Given the description of an element on the screen output the (x, y) to click on. 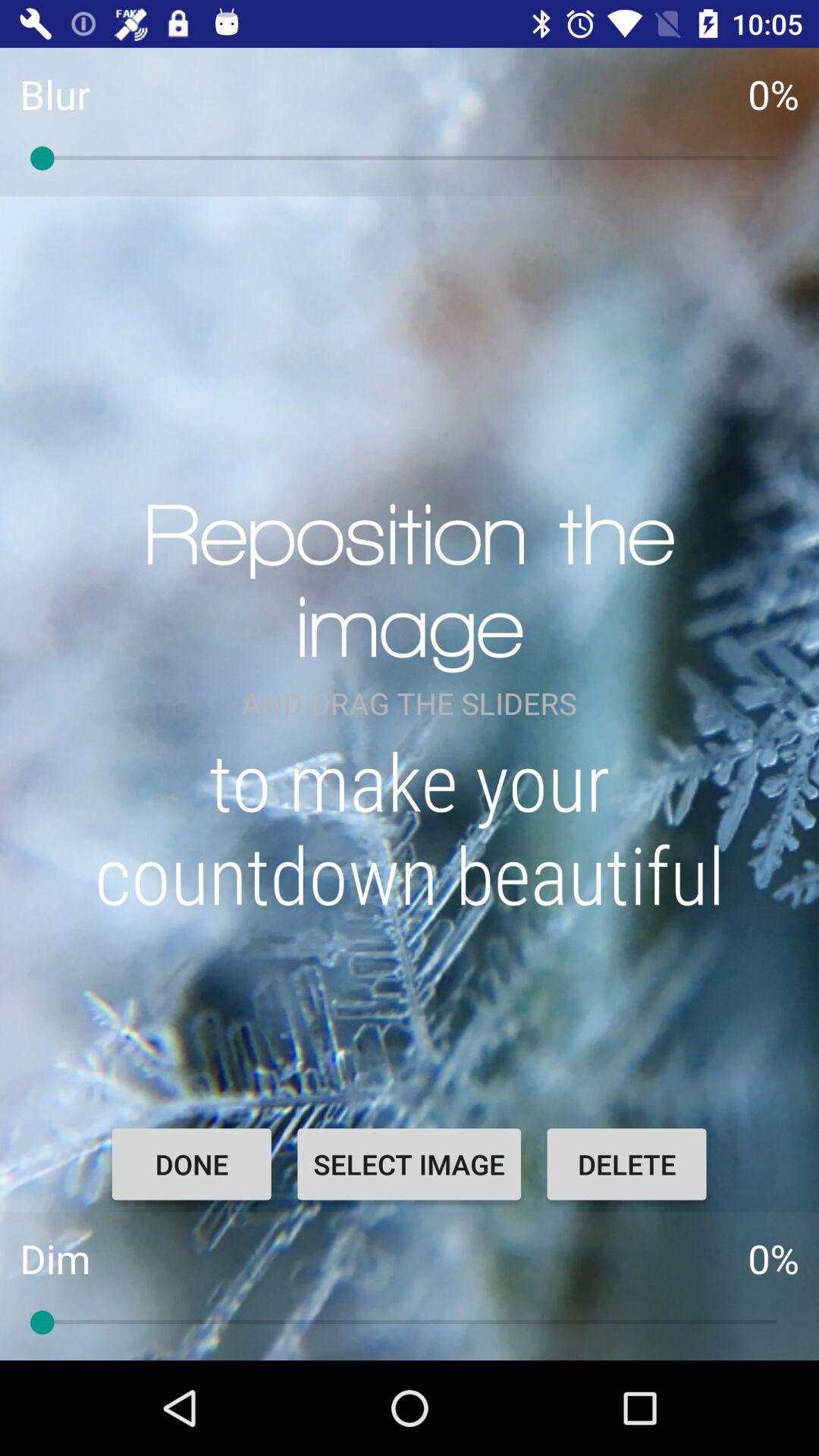
swipe until delete (626, 1164)
